Given the description of an element on the screen output the (x, y) to click on. 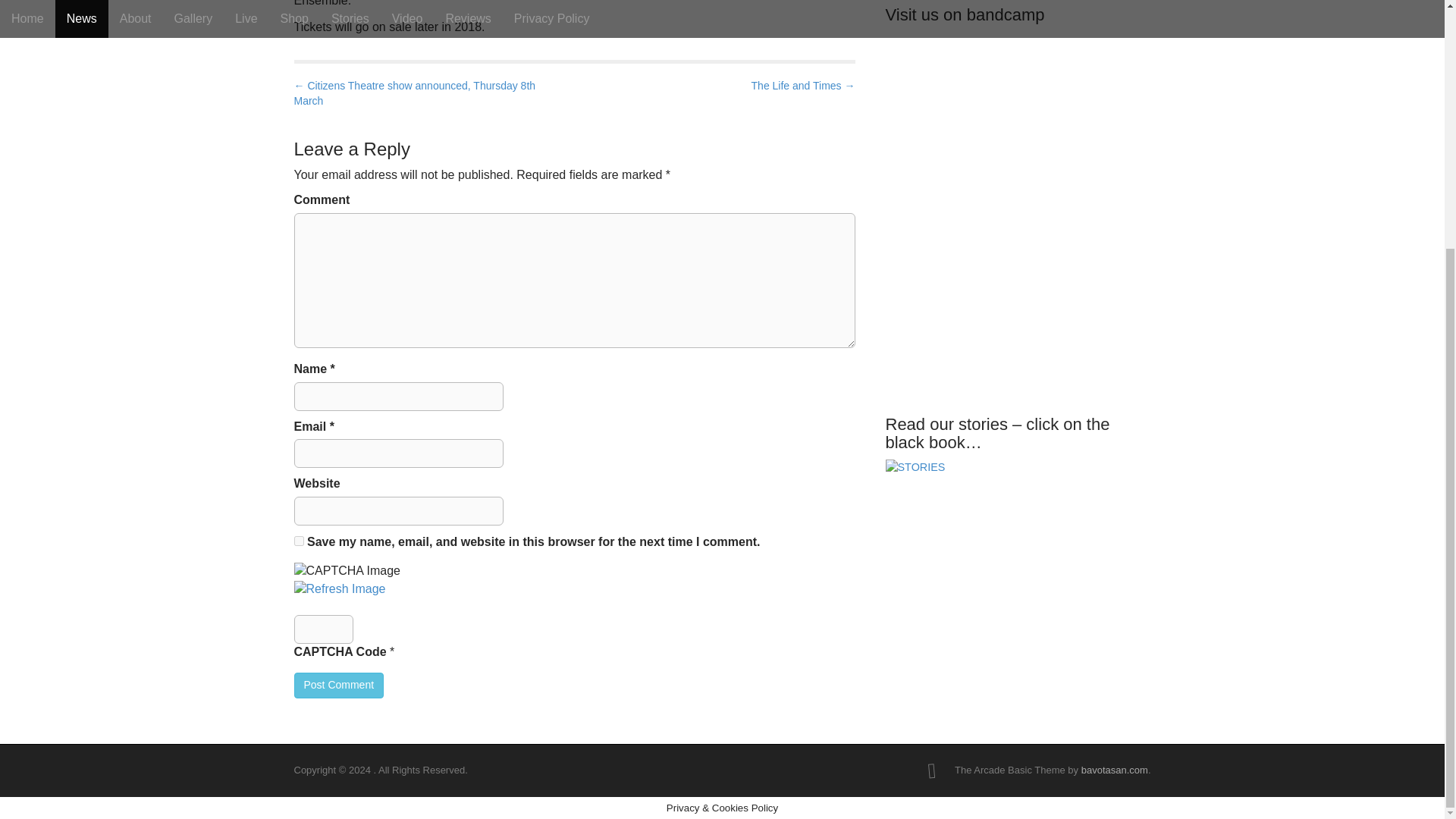
Post Comment (339, 685)
Post Comment (339, 685)
yes (299, 541)
CAPTCHA Image (347, 570)
Refresh Image (339, 587)
bavotasan.com (1114, 769)
STORIES (914, 474)
